Given the description of an element on the screen output the (x, y) to click on. 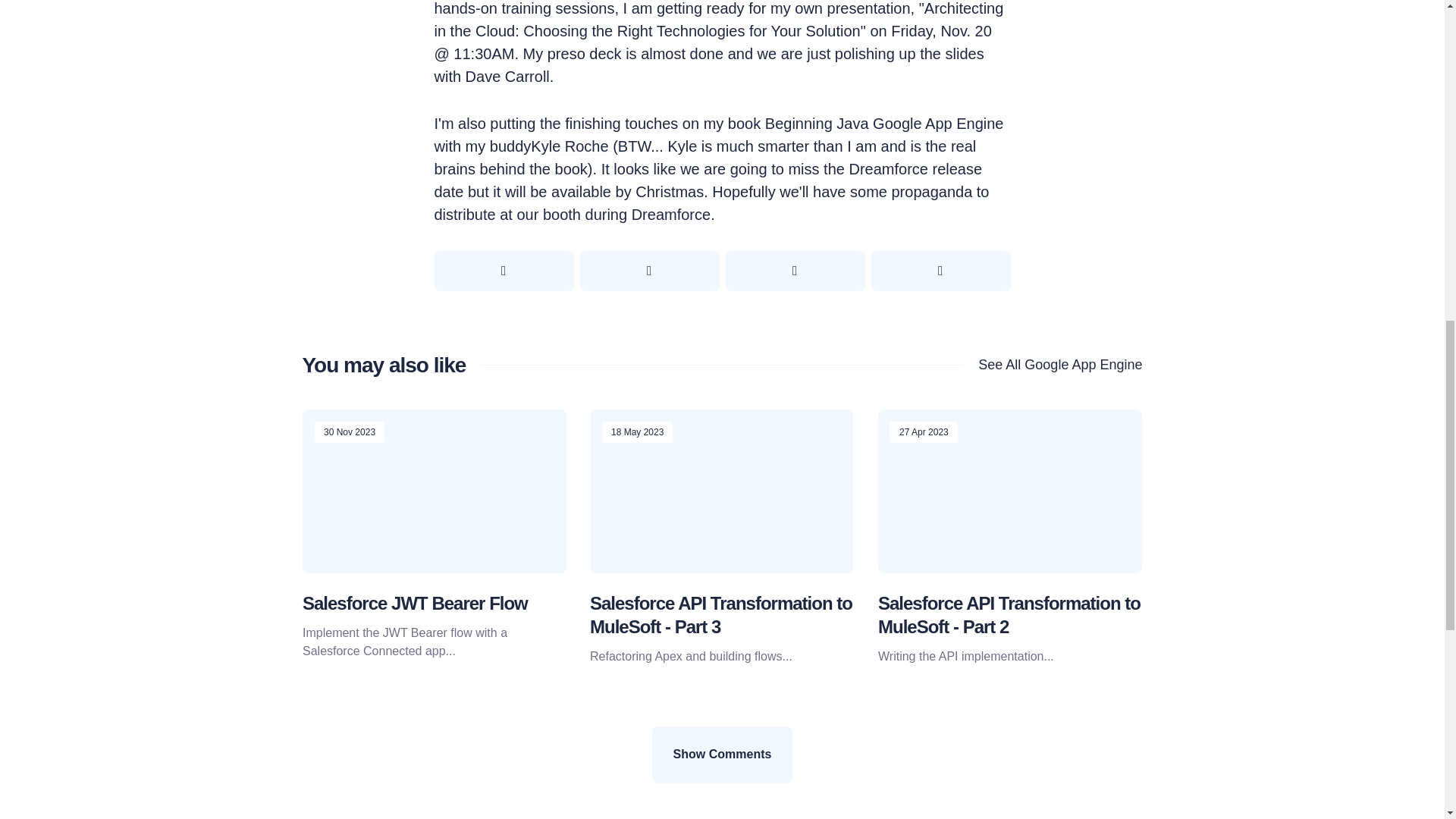
working at the two hands-on training sessions (698, 9)
Salesforce API Transformation to MuleSoft - Part 3 (720, 614)
Salesforce JWT Bearer Flow (414, 602)
Share on Facebook (649, 270)
Salesforce API Transformation to MuleSoft - Part 2 (1008, 614)
Show Comments (722, 754)
Share on LinkedIn (940, 270)
See All Google App Engine (1051, 364)
Kyle Roche (569, 146)
Share on Twitter (503, 270)
Dreamforce (670, 214)
Beginning Java Google App Engine (884, 123)
Share on Pinterest (794, 270)
